Given the description of an element on the screen output the (x, y) to click on. 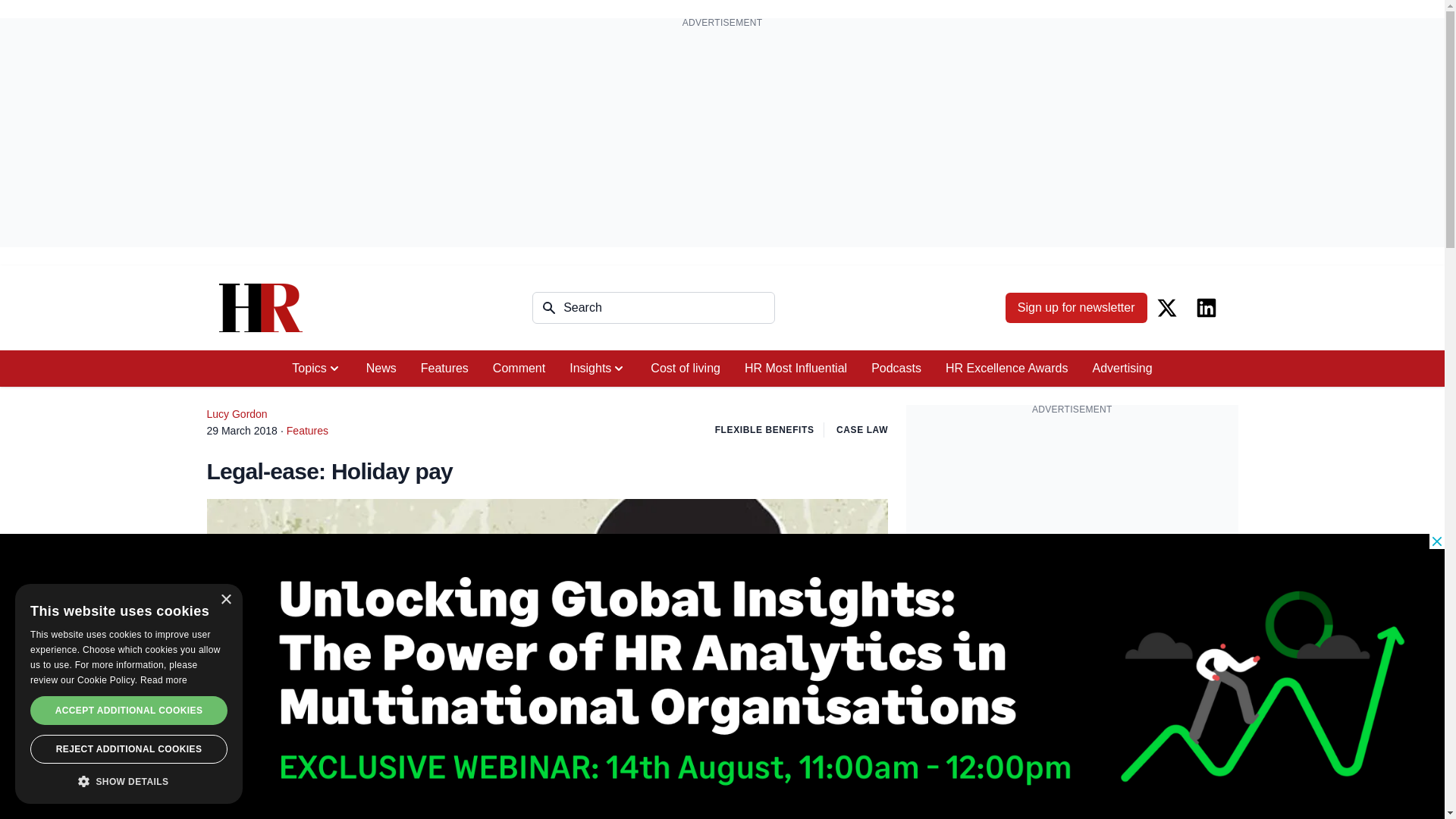
Sign up for newsletter (1076, 307)
Lucy Gordon (236, 413)
CASE LAW (861, 429)
HR Most Influential (795, 368)
HR Excellence Awards (1006, 368)
News (381, 368)
Podcasts (896, 368)
Cost of living (685, 368)
Advertising (1121, 368)
Features (444, 368)
FLEXIBLE BENEFITS (763, 429)
3rd party ad content (1072, 520)
Topics (316, 368)
Insights (598, 368)
